Given the description of an element on the screen output the (x, y) to click on. 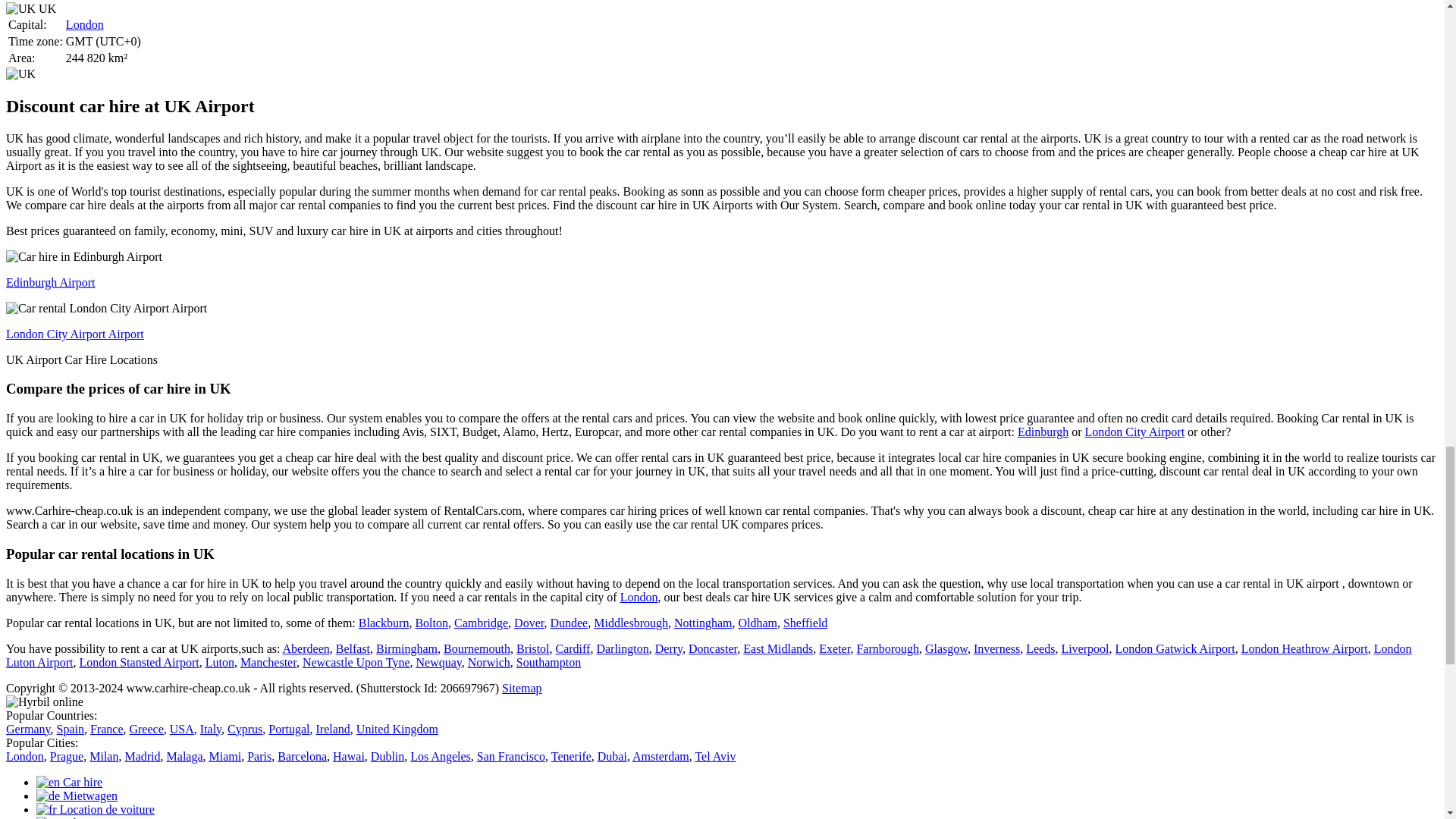
Cardiff (573, 648)
Dundee (569, 622)
London City Airport (1134, 431)
Car hire in UK (19, 8)
Aberdeen (306, 648)
Middlesbrough (631, 622)
Glasgow (946, 648)
London (639, 596)
Birmingham (406, 648)
Belfast (352, 648)
Car rental Edinburgh Airport (83, 256)
Edinburgh Airport (49, 282)
Inverness (997, 648)
Oldham (757, 622)
Edinburgh (1042, 431)
